Given the description of an element on the screen output the (x, y) to click on. 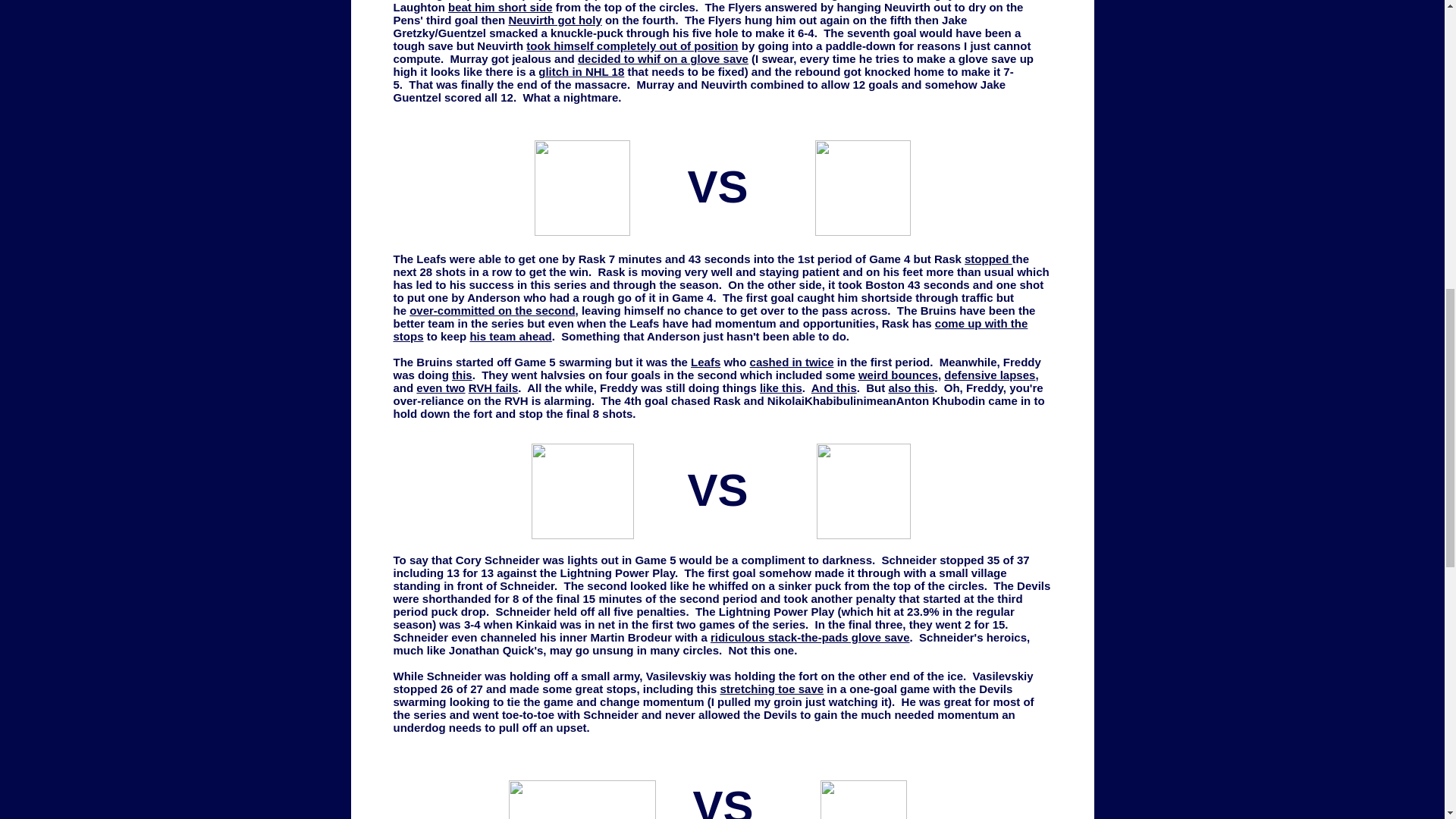
took himself completely out of position (631, 45)
Neuvirth got holy (554, 19)
beat him short side (500, 6)
